Given the description of an element on the screen output the (x, y) to click on. 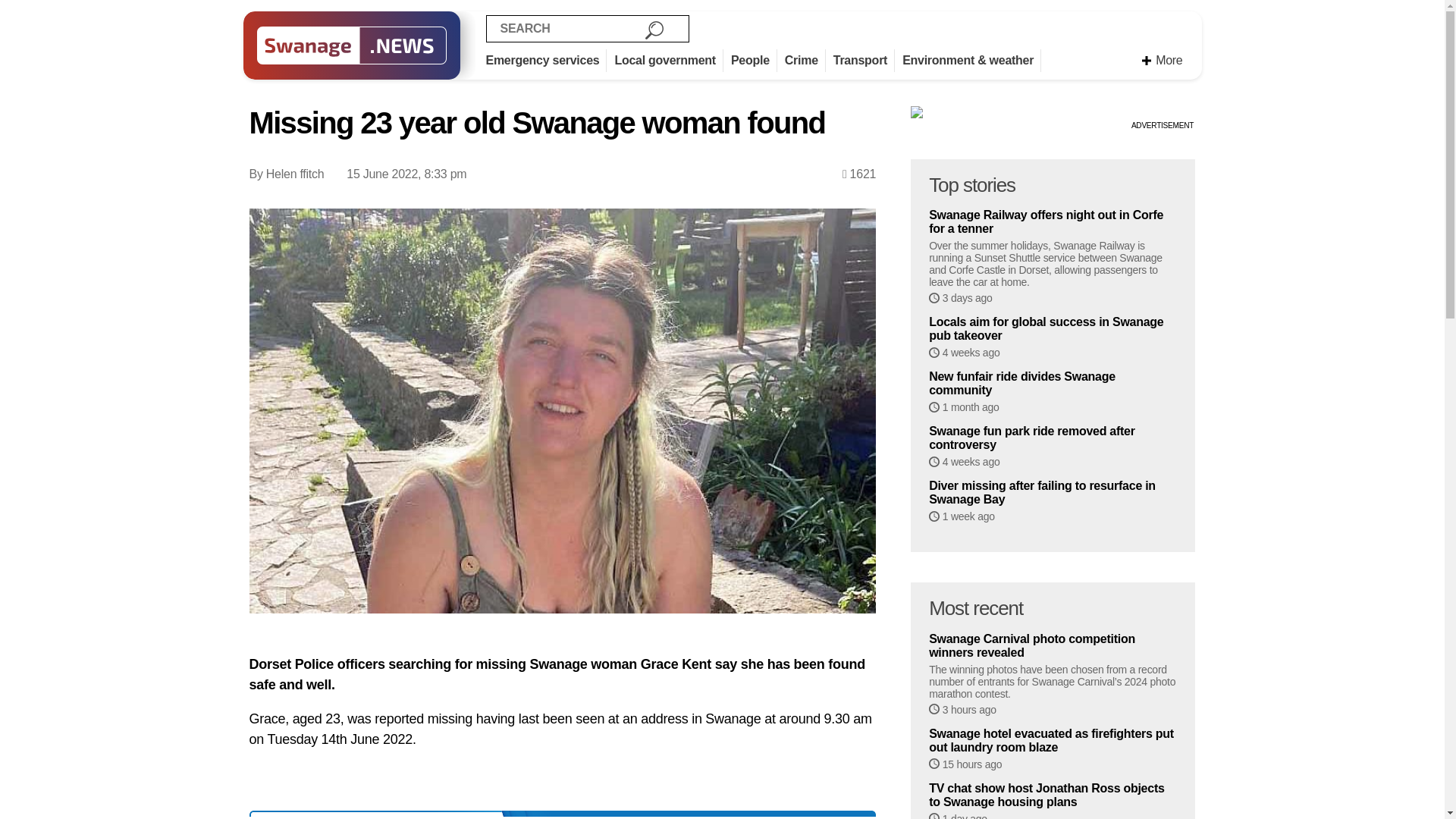
Emergency services (545, 60)
Swanage Railway offers night out in Corfe for a tenner (1052, 221)
People (753, 60)
Locals aim for global success in Swanage pub takeover (1052, 329)
Crime (804, 60)
Transport (863, 60)
Local government (668, 60)
